Given the description of an element on the screen output the (x, y) to click on. 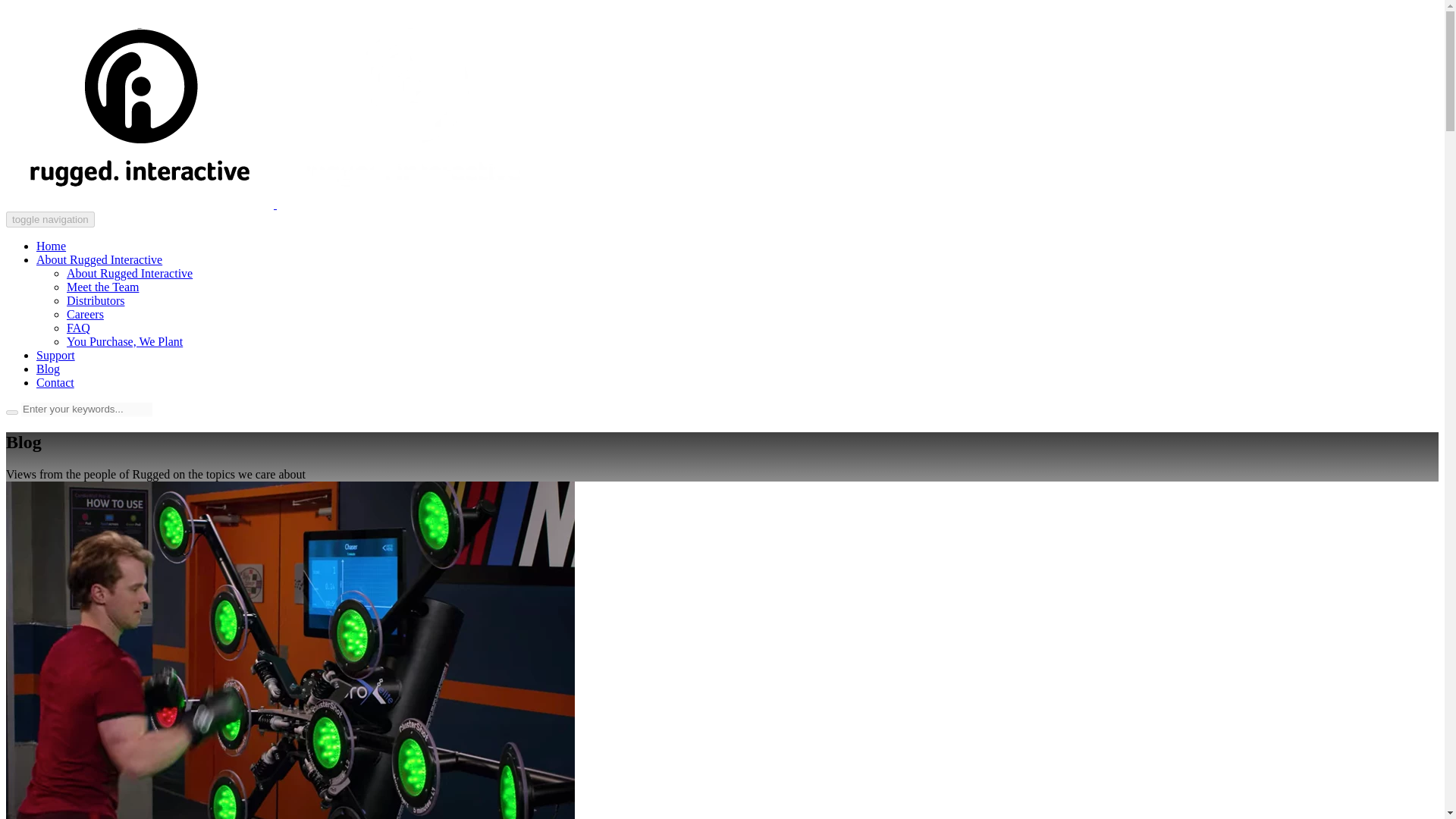
FAQ (78, 327)
Blog (47, 368)
Distributors (94, 300)
Contact (55, 382)
Home (50, 245)
Support (55, 354)
Careers (84, 314)
About Rugged Interactive (129, 273)
Meet the Team (102, 286)
You Purchase, We Plant (124, 341)
